Given the description of an element on the screen output the (x, y) to click on. 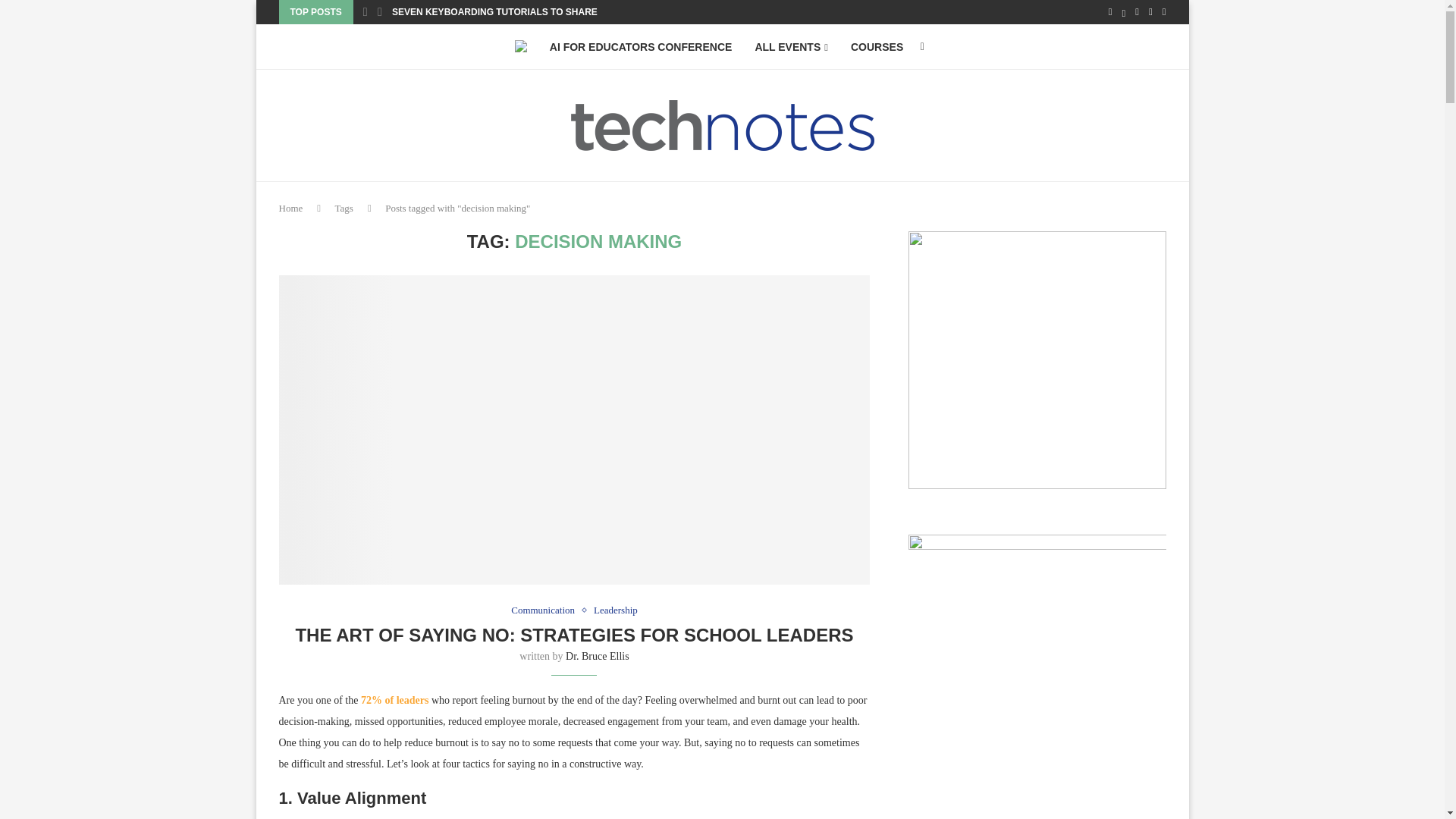
Leadership (615, 610)
COURSES (876, 46)
Communication (546, 610)
Dr. Bruce Ellis (597, 655)
THE ART OF SAYING NO: STRATEGIES FOR SCHOOL LEADERS (574, 634)
AI FOR EDUCATORS CONFERENCE (641, 46)
SEVEN KEYBOARDING TUTORIALS TO SHARE (493, 12)
Home (290, 207)
ALL EVENTS (791, 47)
